Given the description of an element on the screen output the (x, y) to click on. 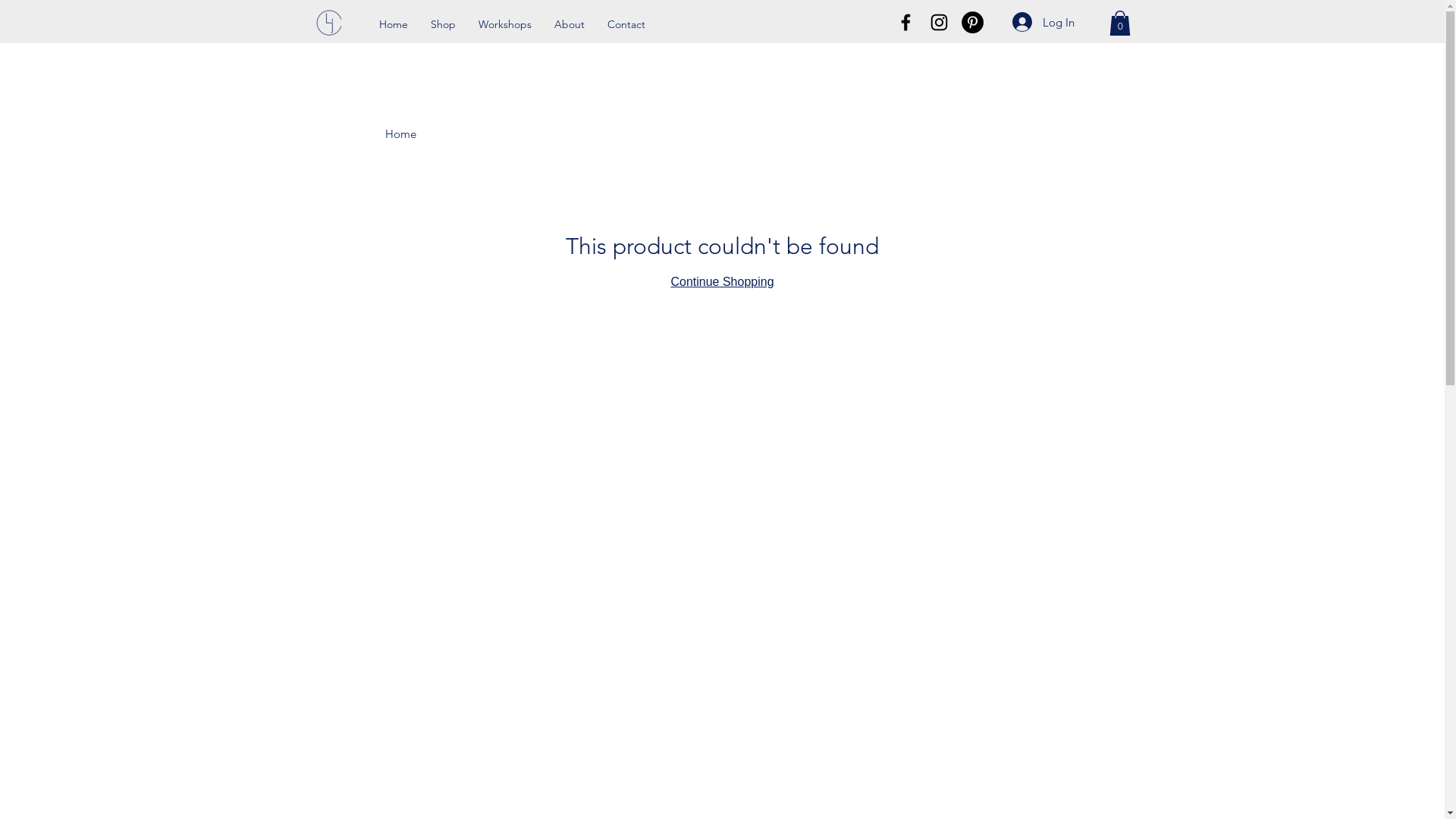
Contact Element type: text (626, 24)
0 Element type: text (1118, 22)
Home Element type: text (392, 24)
Home Element type: text (400, 133)
Continue Shopping Element type: text (721, 281)
Shop Element type: text (442, 24)
About Element type: text (569, 24)
Log In Element type: text (1042, 21)
Workshops Element type: text (504, 24)
